Given the description of an element on the screen output the (x, y) to click on. 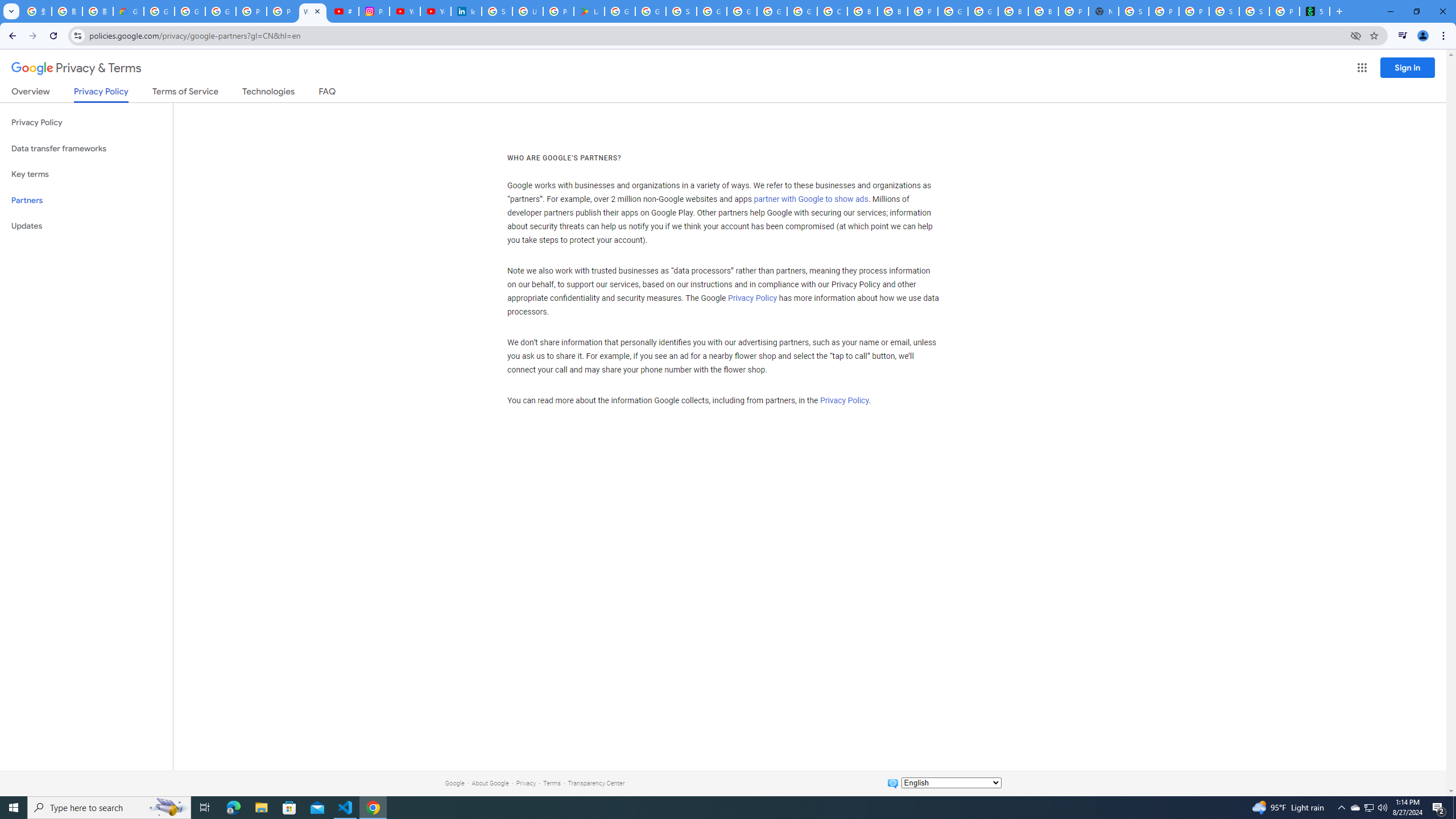
New Tab (1103, 11)
